Given the description of an element on the screen output the (x, y) to click on. 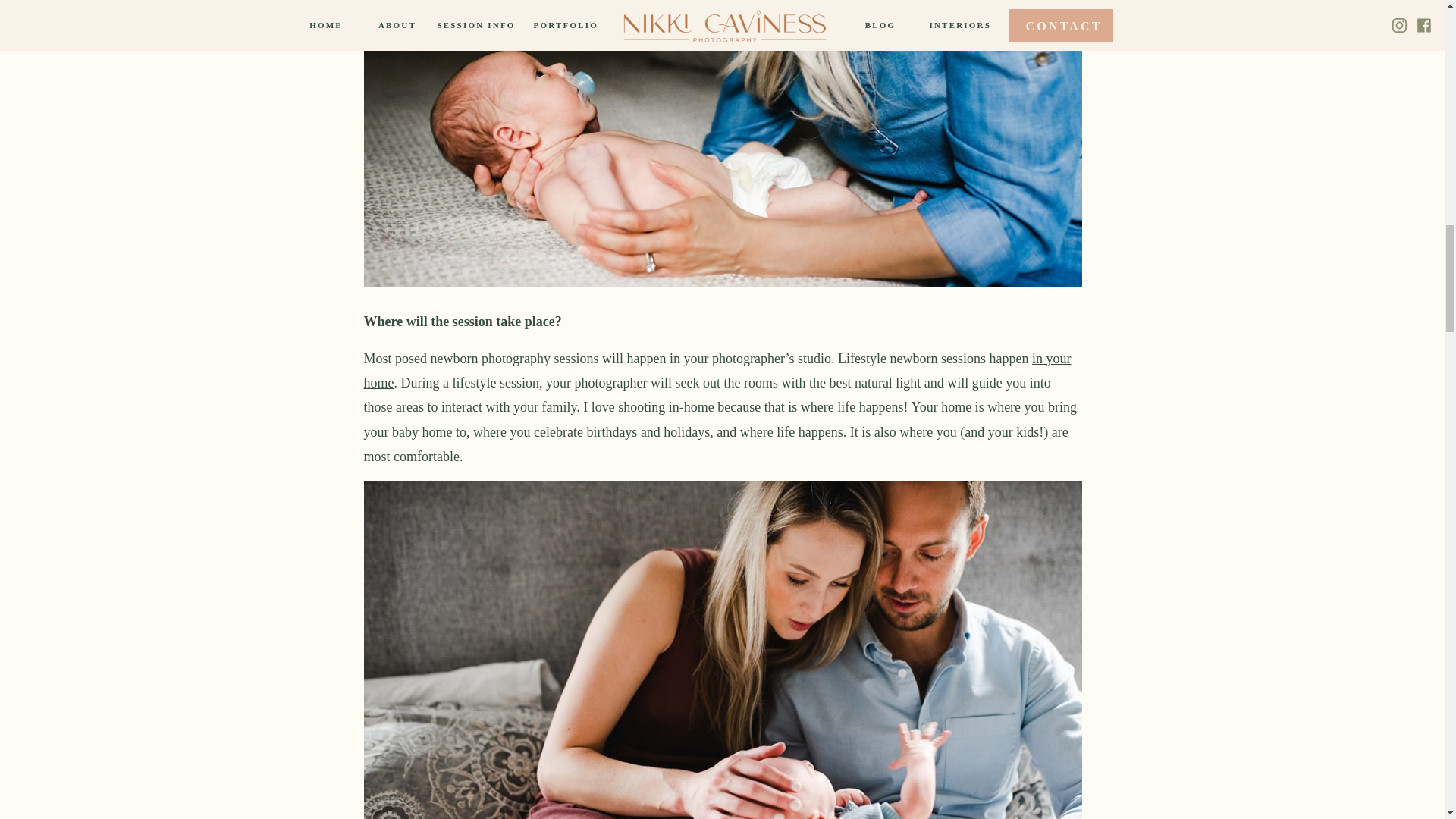
in your home (717, 369)
